Given the description of an element on the screen output the (x, y) to click on. 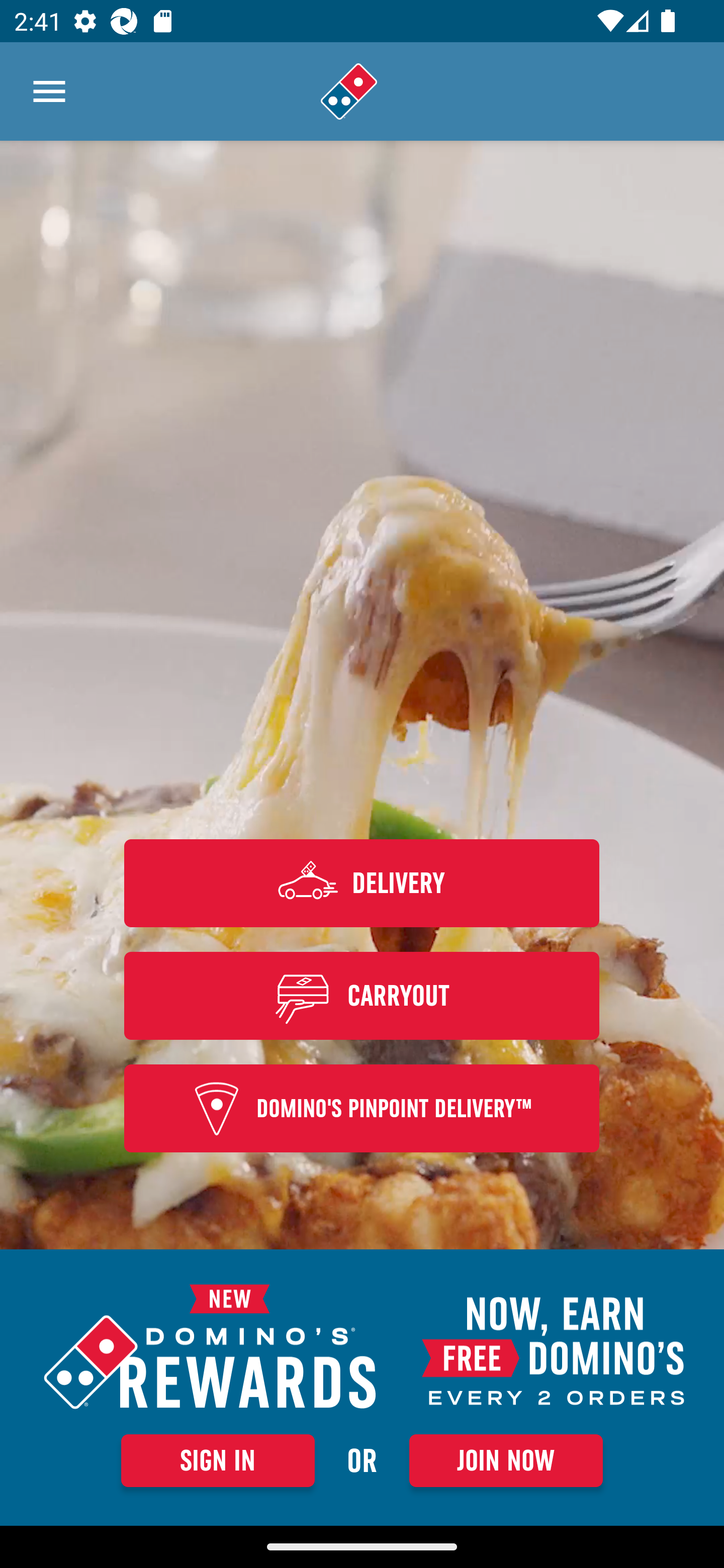
Expand Menu (49, 91)
DELIVERY (361, 882)
CARRYOUT (361, 995)
DOMINO'S PINPOINT DELIVERY™ (361, 1108)
SIGN IN (217, 1460)
JOIN NOW (506, 1460)
